Given the description of an element on the screen output the (x, y) to click on. 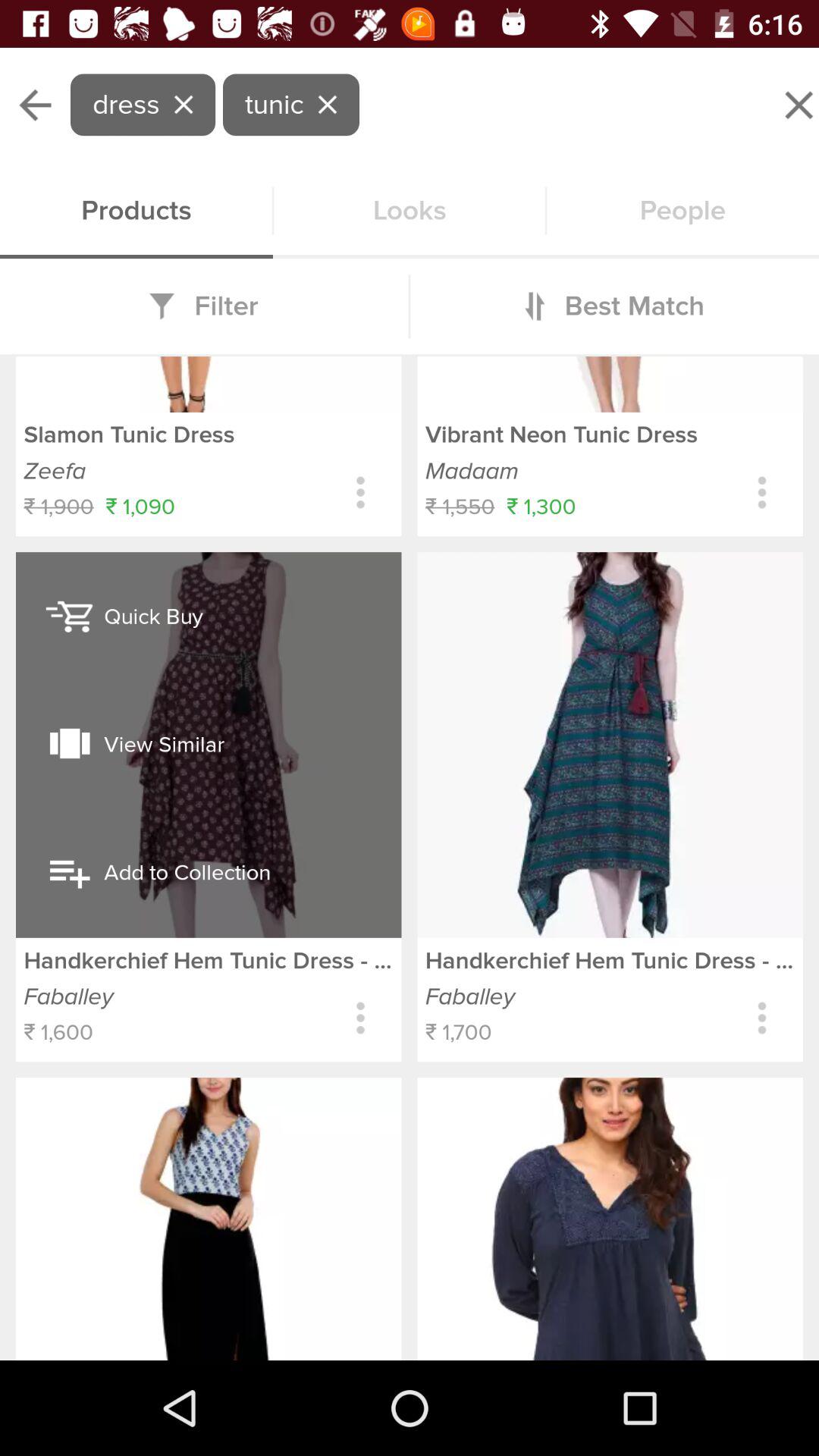
get item details (762, 492)
